Given the description of an element on the screen output the (x, y) to click on. 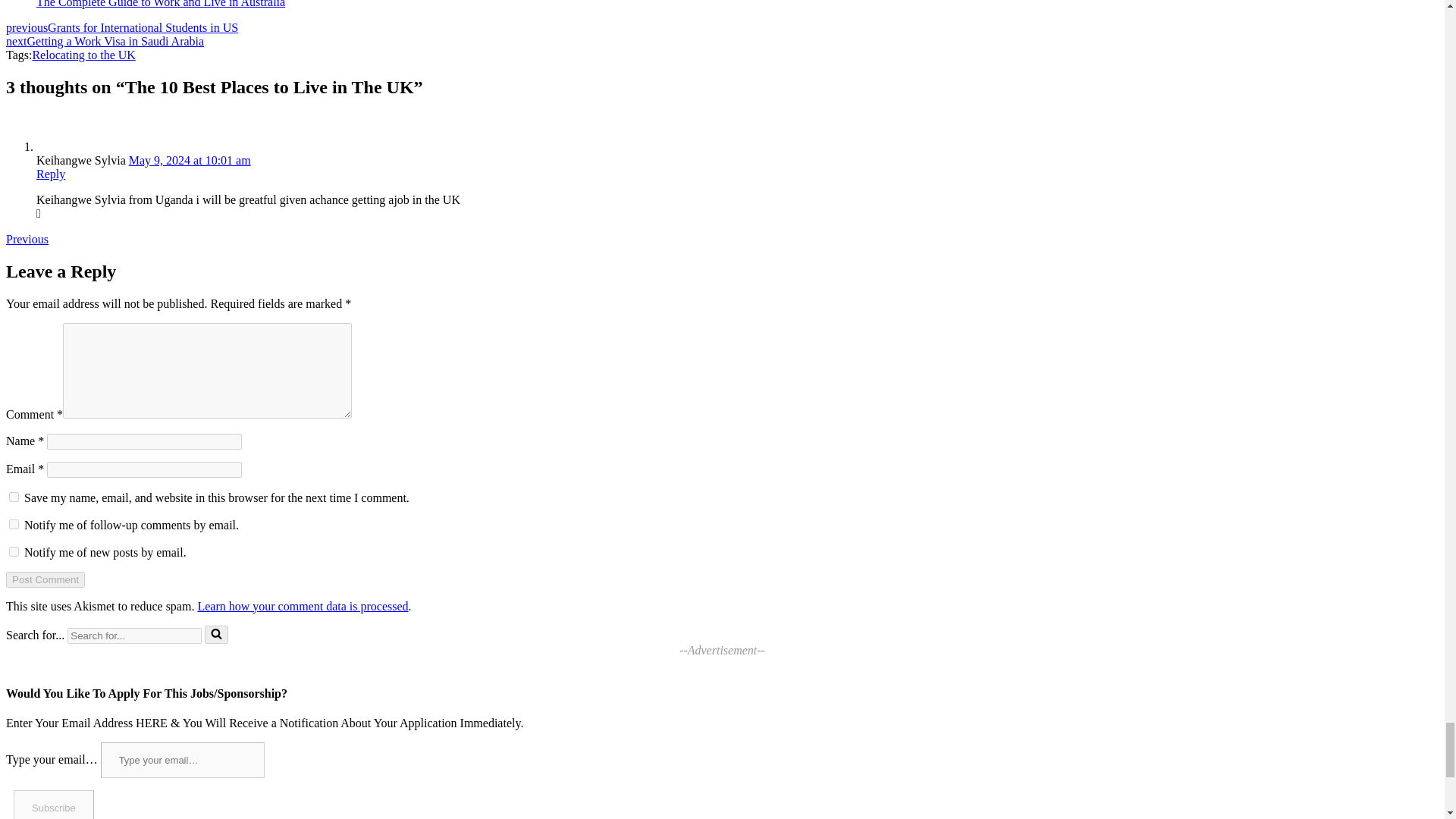
yes (13, 497)
Post Comment (44, 579)
subscribe (13, 551)
subscribe (13, 524)
